Given the description of an element on the screen output the (x, y) to click on. 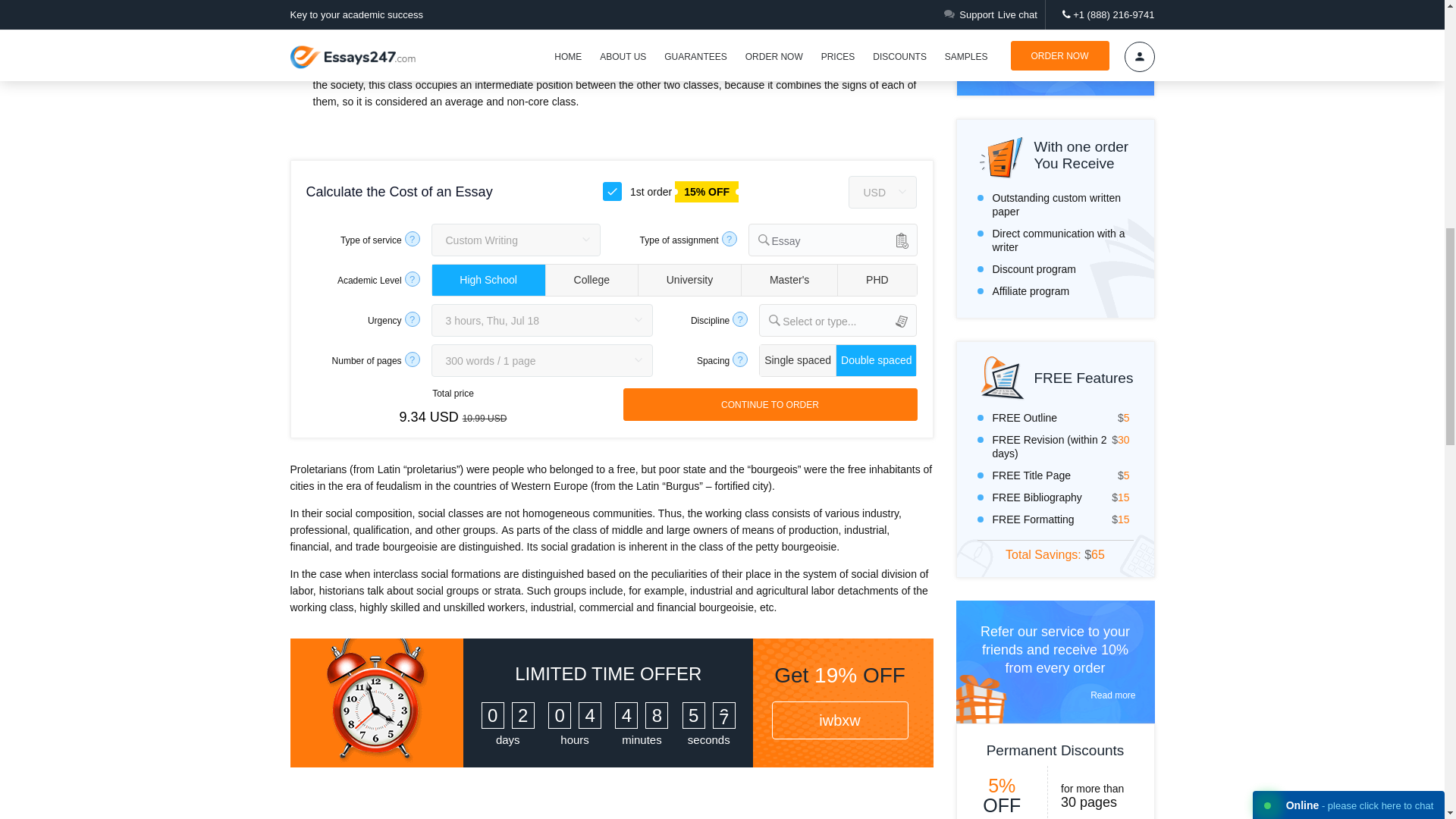
15 (614, 190)
Read more (1055, 695)
Essay (844, 240)
Continue to order (770, 404)
Continue to order (770, 404)
Select or type... (849, 320)
